Given the description of an element on the screen output the (x, y) to click on. 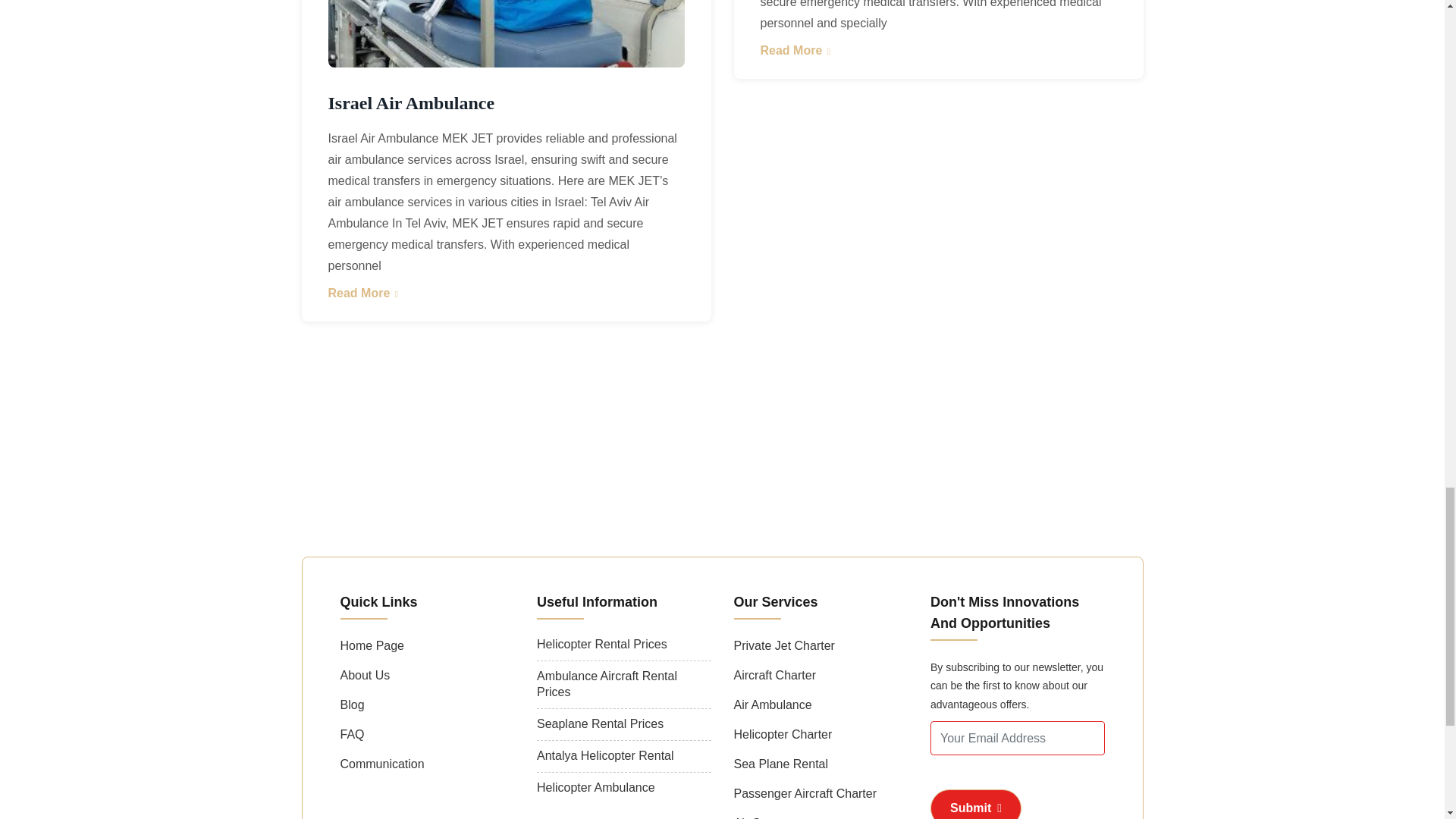
Israel Air Ambulance (505, 103)
